Given the description of an element on the screen output the (x, y) to click on. 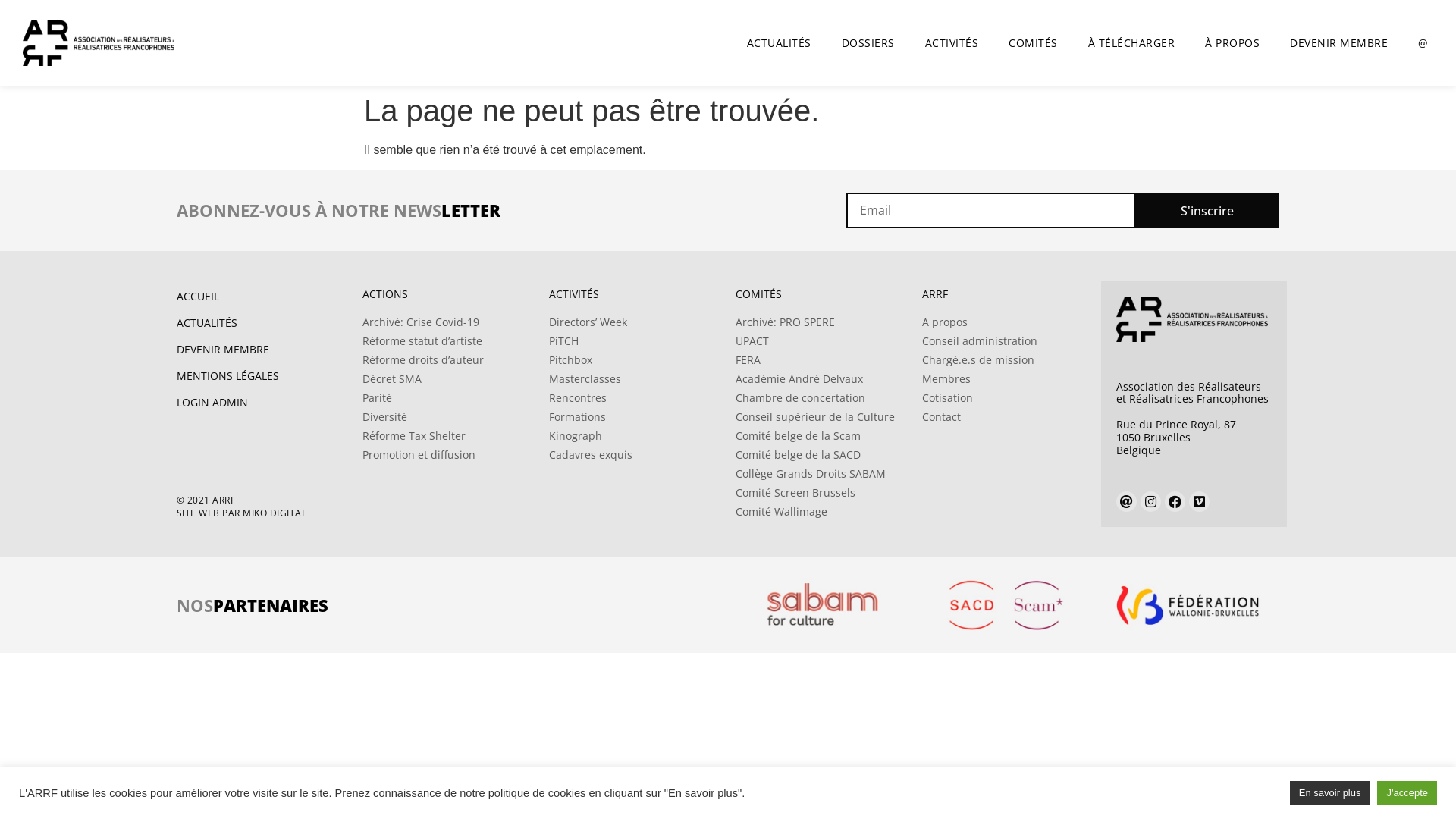
A propos Element type: text (1007, 321)
En savoir plus Element type: text (1329, 792)
Masterclasses Element type: text (634, 378)
Membres Element type: text (1007, 378)
Rencontres Element type: text (634, 397)
Formations Element type: text (634, 416)
Promotion et diffusion Element type: text (447, 454)
J'accepte Element type: text (1407, 792)
DOSSIERS Element type: text (867, 42)
DEVENIR MEMBRE Element type: text (261, 349)
Cadavres exquis Element type: text (634, 454)
Conseil administration Element type: text (1007, 340)
Pitchbox Element type: text (634, 359)
ACCUEIL Element type: text (261, 296)
SITE WEB PAR MIKO DIGITAL Element type: text (261, 513)
Chambre de concertation Element type: text (820, 397)
PiTCH Element type: text (634, 340)
FERA Element type: text (820, 359)
Cotisation Element type: text (1007, 397)
UPACT Element type: text (820, 340)
DEVENIR MEMBRE Element type: text (1338, 42)
S'inscrire Element type: text (1207, 210)
@ Element type: text (1423, 42)
LOGIN ADMIN Element type: text (261, 402)
Kinograph Element type: text (634, 435)
Contact Element type: text (1007, 416)
